Given the description of an element on the screen output the (x, y) to click on. 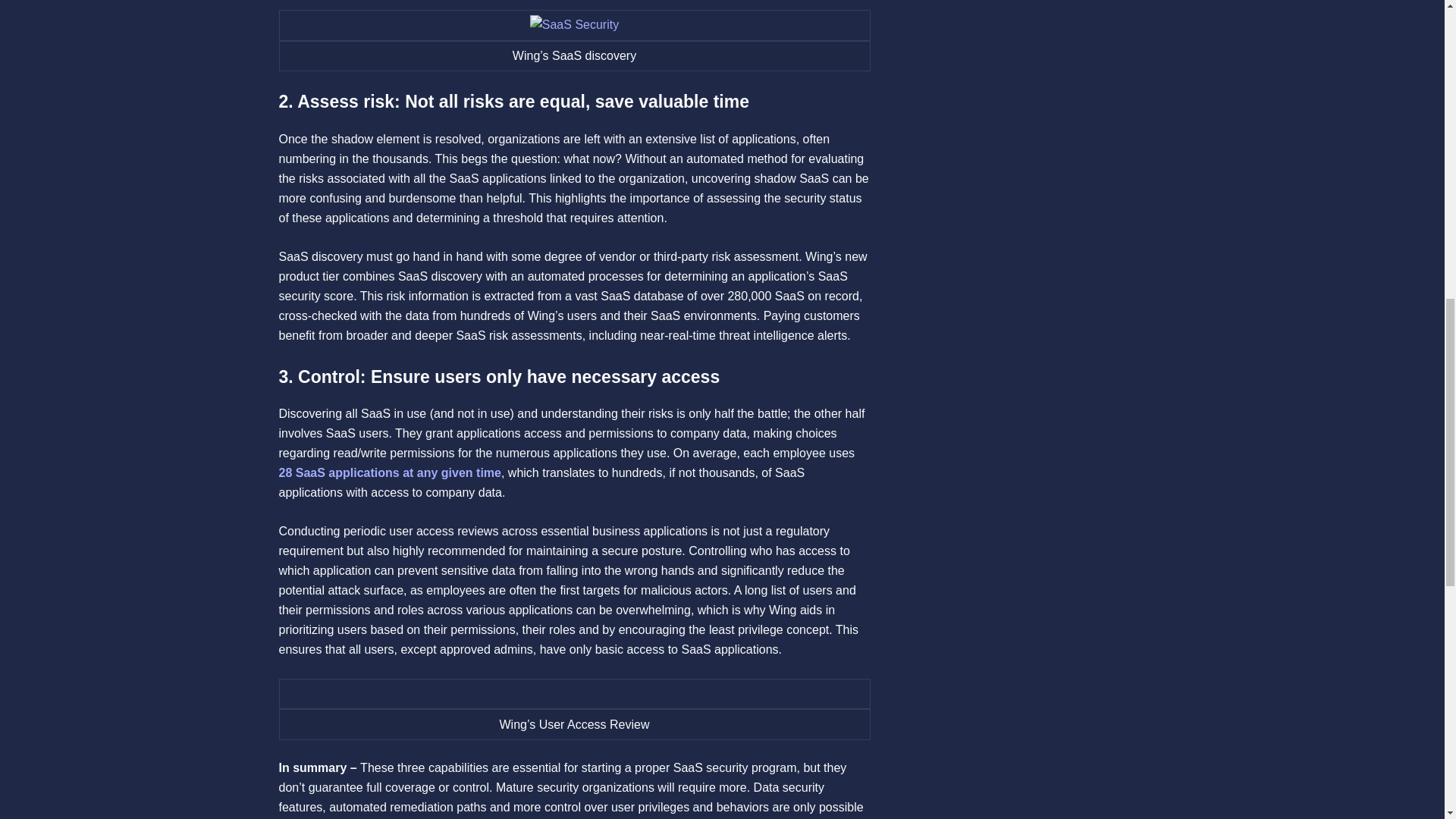
SaaS Security (573, 25)
28 SaaS applications at any given time (389, 472)
